Given the description of an element on the screen output the (x, y) to click on. 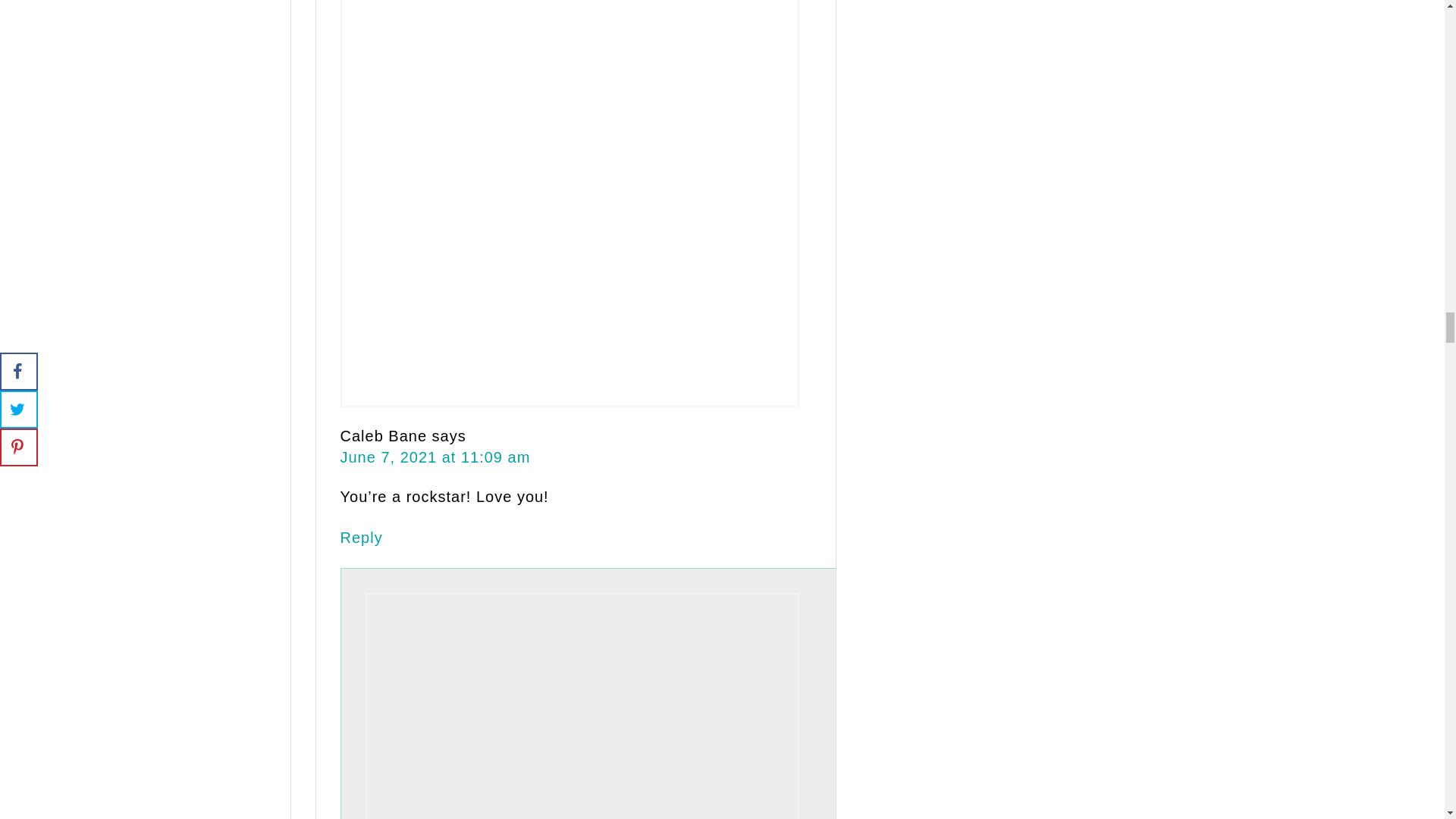
Reply (360, 537)
June 7, 2021 at 11:09 am (434, 457)
